Given the description of an element on the screen output the (x, y) to click on. 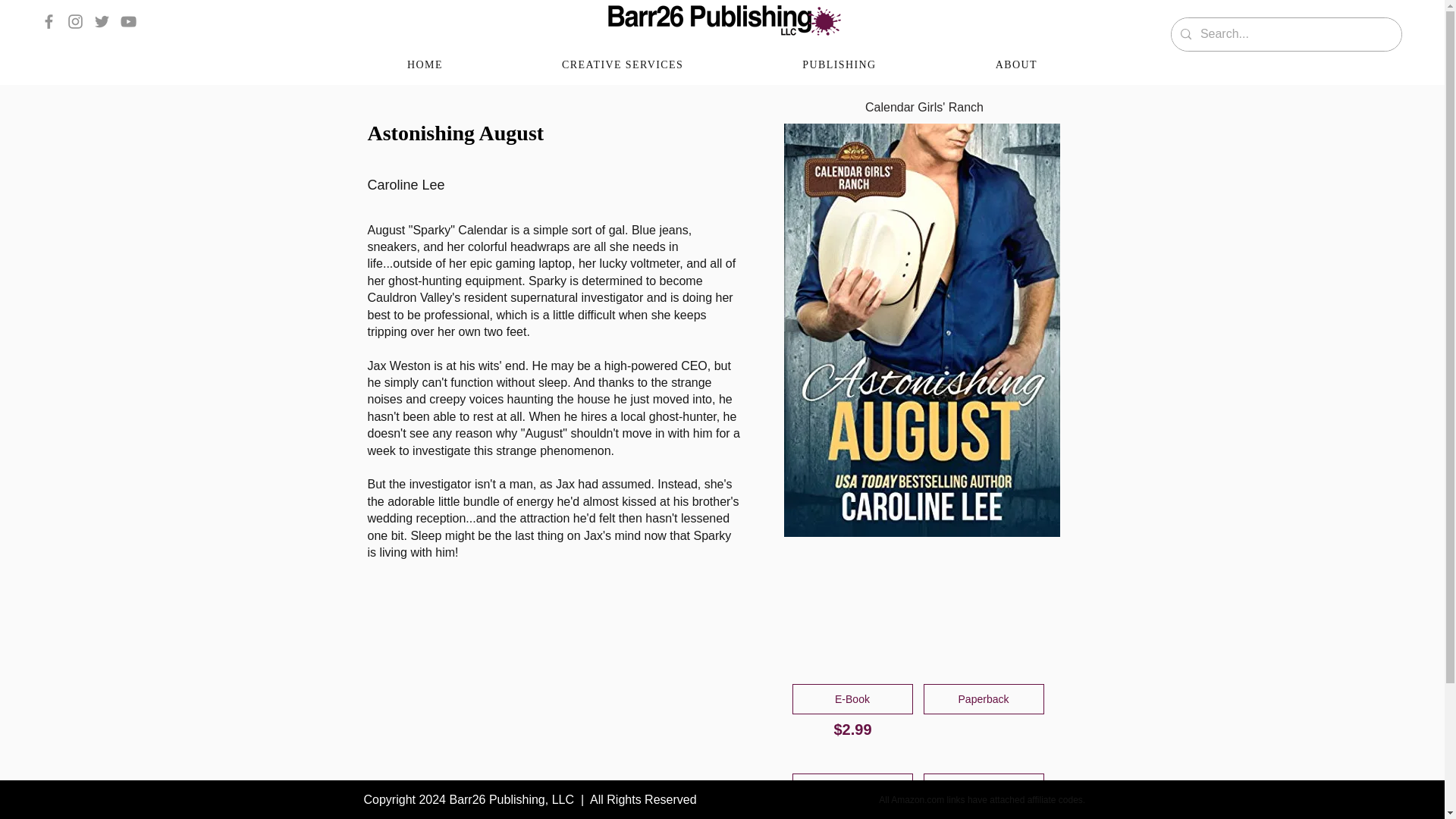
Calendar Girls' Ranch (924, 107)
Audiobook (852, 788)
ABOUT (1016, 65)
Astonishing August book.jpg (921, 330)
Caroline Lee (545, 185)
PUBLISHING (839, 65)
CREATIVE SERVICES (622, 65)
E-Book (852, 698)
HOME (424, 65)
